Given the description of an element on the screen output the (x, y) to click on. 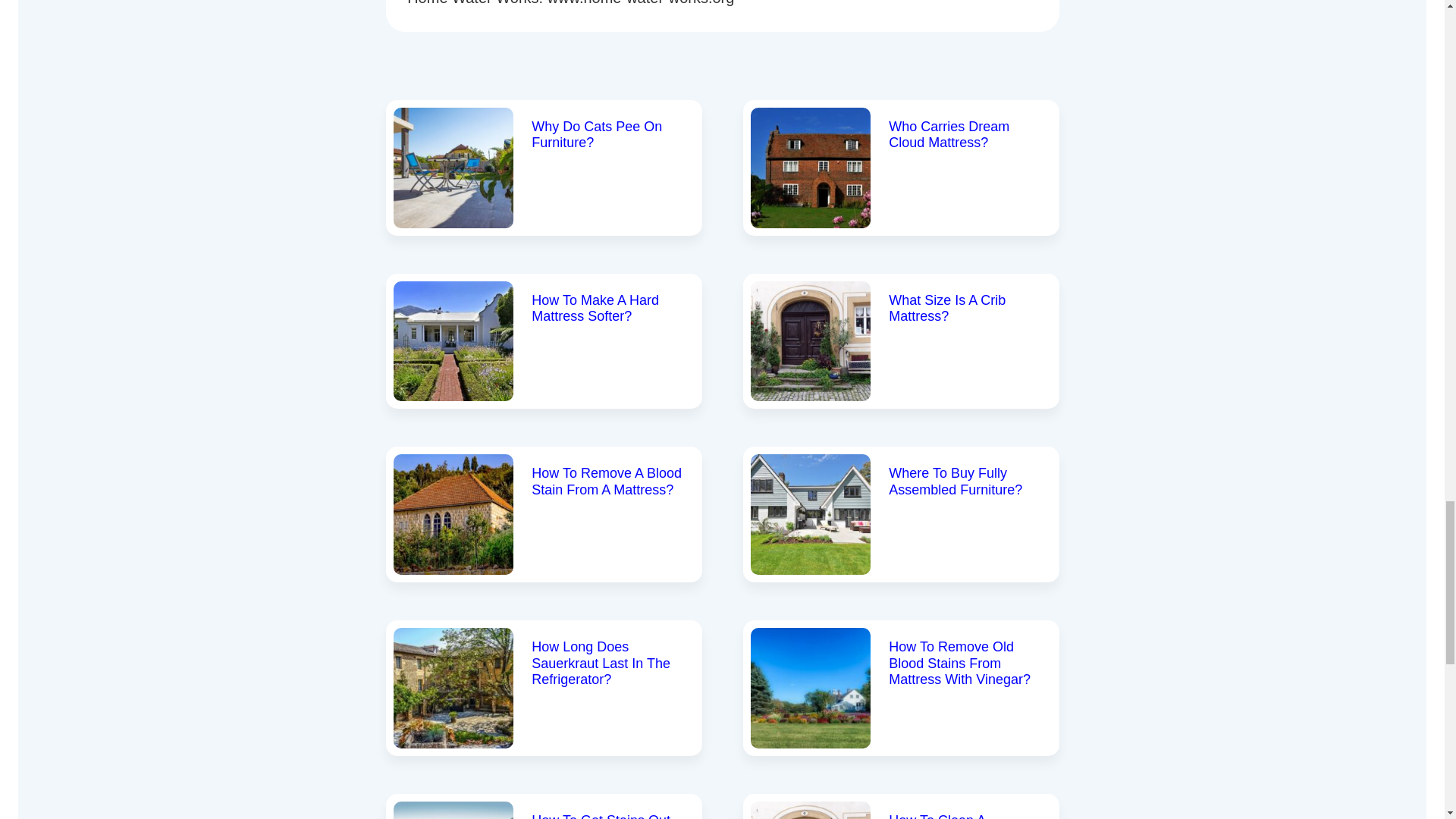
How To Remove A Blood Stain From A Mattress? (606, 481)
How To Remove Old Blood Stains From Mattress With Vinegar? (959, 663)
How Long Does Sauerkraut Last In The Refrigerator? (600, 663)
What Size Is A Crib Mattress? (947, 308)
How To Make A Hard Mattress Softer? (595, 308)
Where To Buy Fully Assembled Furniture? (955, 481)
Why Do Cats Pee On Furniture? (596, 134)
Who Carries Dream Cloud Mattress? (948, 134)
